Given the description of an element on the screen output the (x, y) to click on. 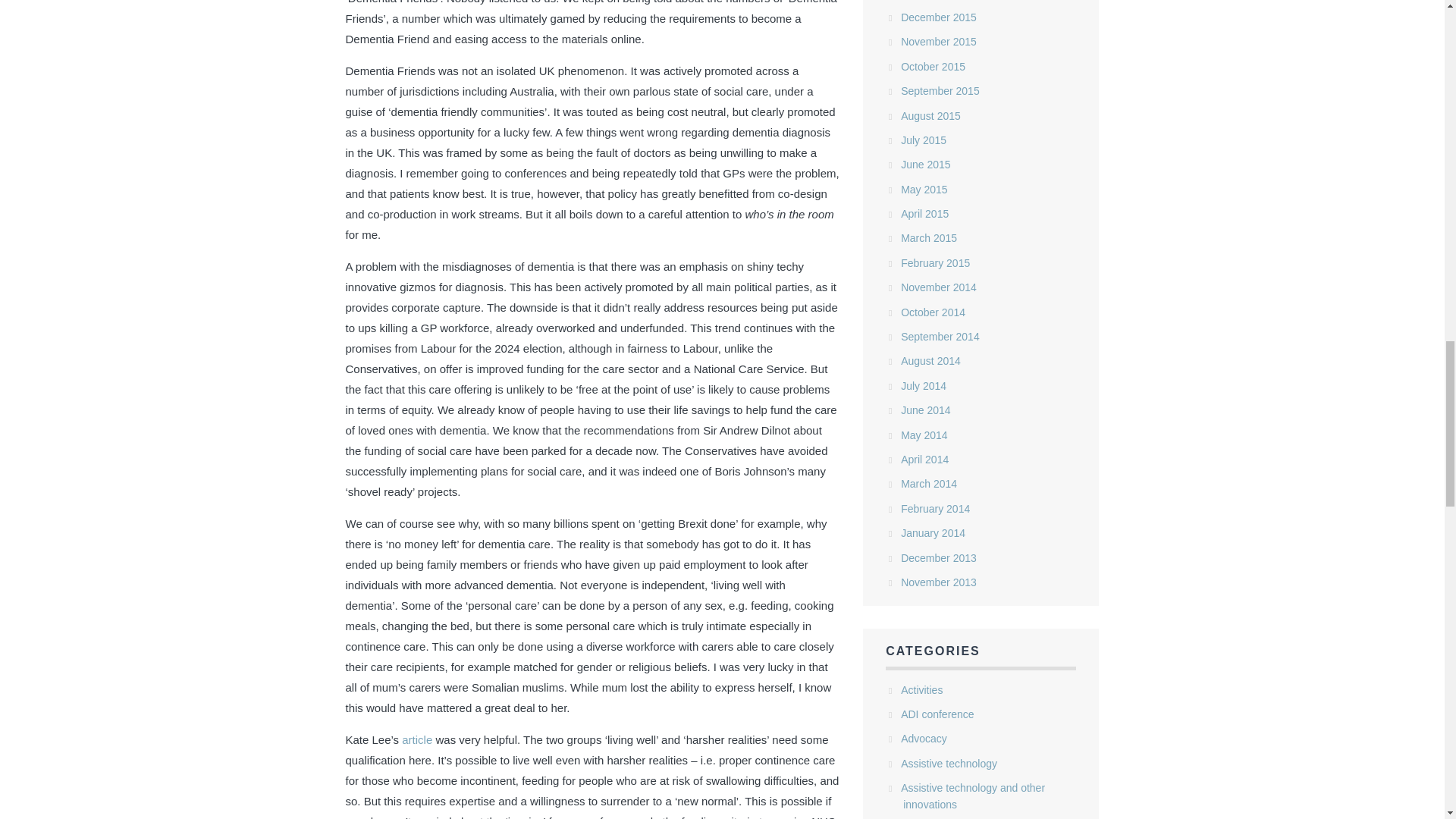
article (416, 739)
